Given the description of an element on the screen output the (x, y) to click on. 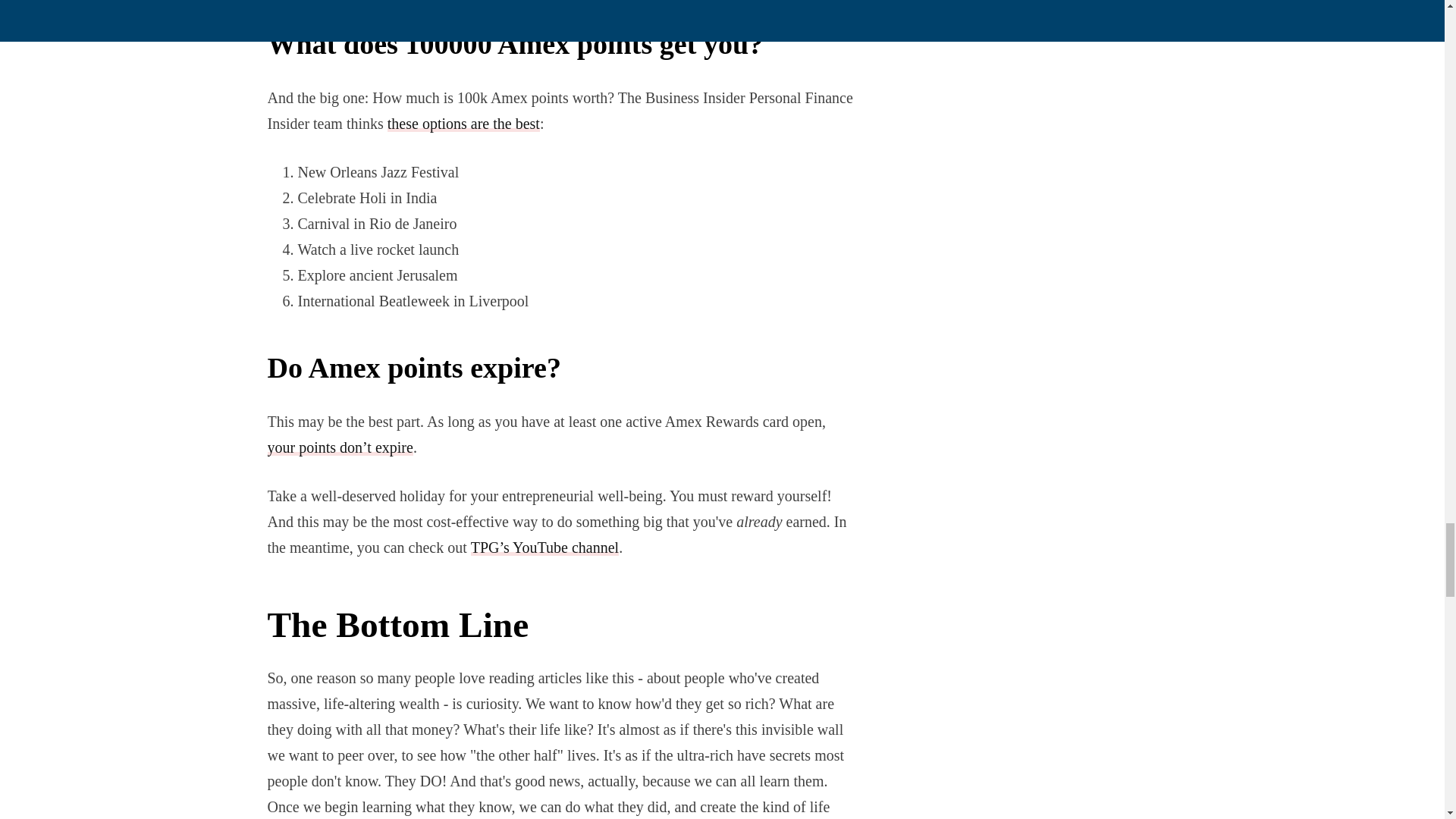
these options are the best (463, 123)
